Given the description of an element on the screen output the (x, y) to click on. 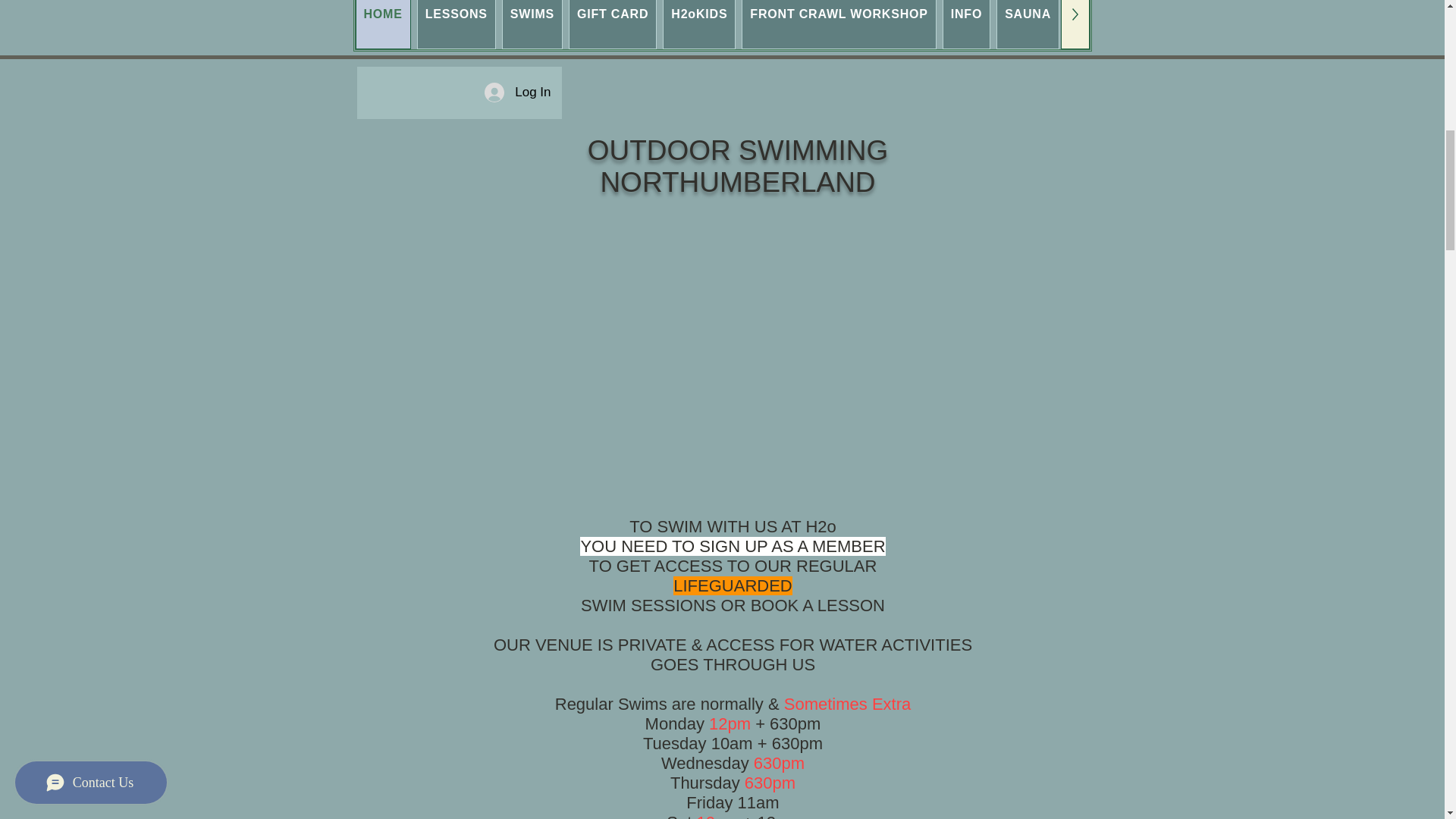
SWIMS (532, 24)
BADGES (1347, 24)
MEMBERSHIP (1192, 24)
SHOP (1277, 24)
FRONT CRAWL WORKSHOP (838, 24)
H2oKIDS (698, 24)
SAUNA (1027, 24)
LESSONS (456, 24)
GIFT CARD (612, 24)
HOME (382, 24)
INFO (966, 24)
EVENTS (1099, 24)
